Given the description of an element on the screen output the (x, y) to click on. 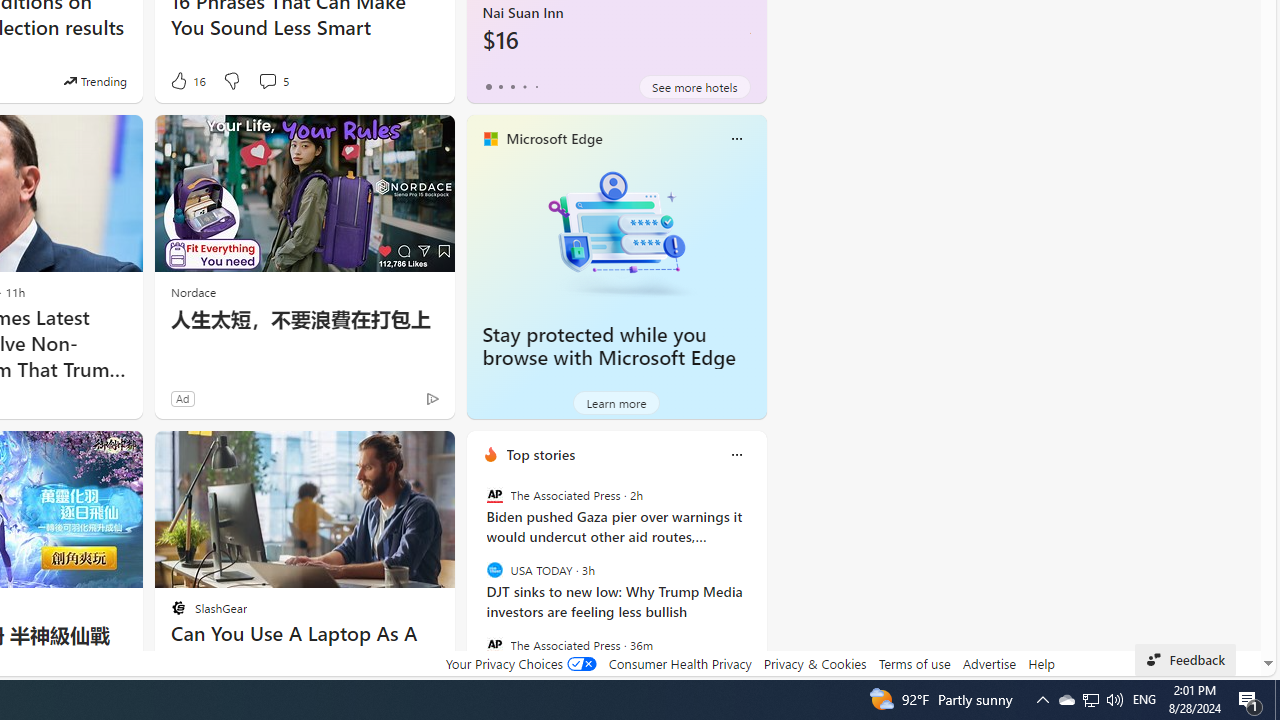
Help (1040, 663)
View comments 5 Comment (267, 80)
Hide this story (393, 454)
Advertise (989, 663)
Consumer Health Privacy (680, 663)
Learn more (616, 402)
tab-1 (500, 86)
tab-0 (488, 86)
The Associated Press (494, 644)
tab-4 (535, 86)
